Given the description of an element on the screen output the (x, y) to click on. 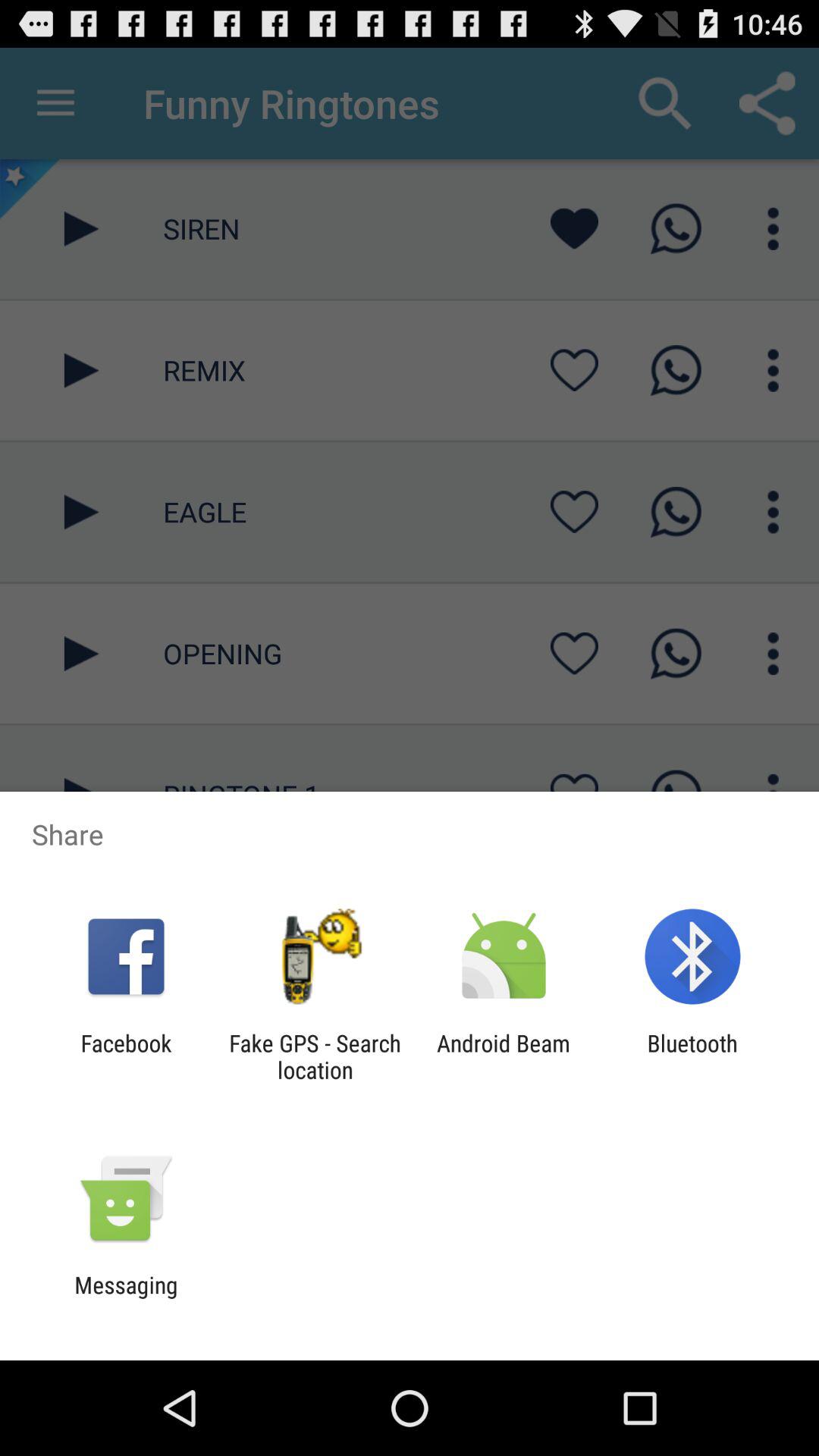
swipe until bluetooth (692, 1056)
